Given the description of an element on the screen output the (x, y) to click on. 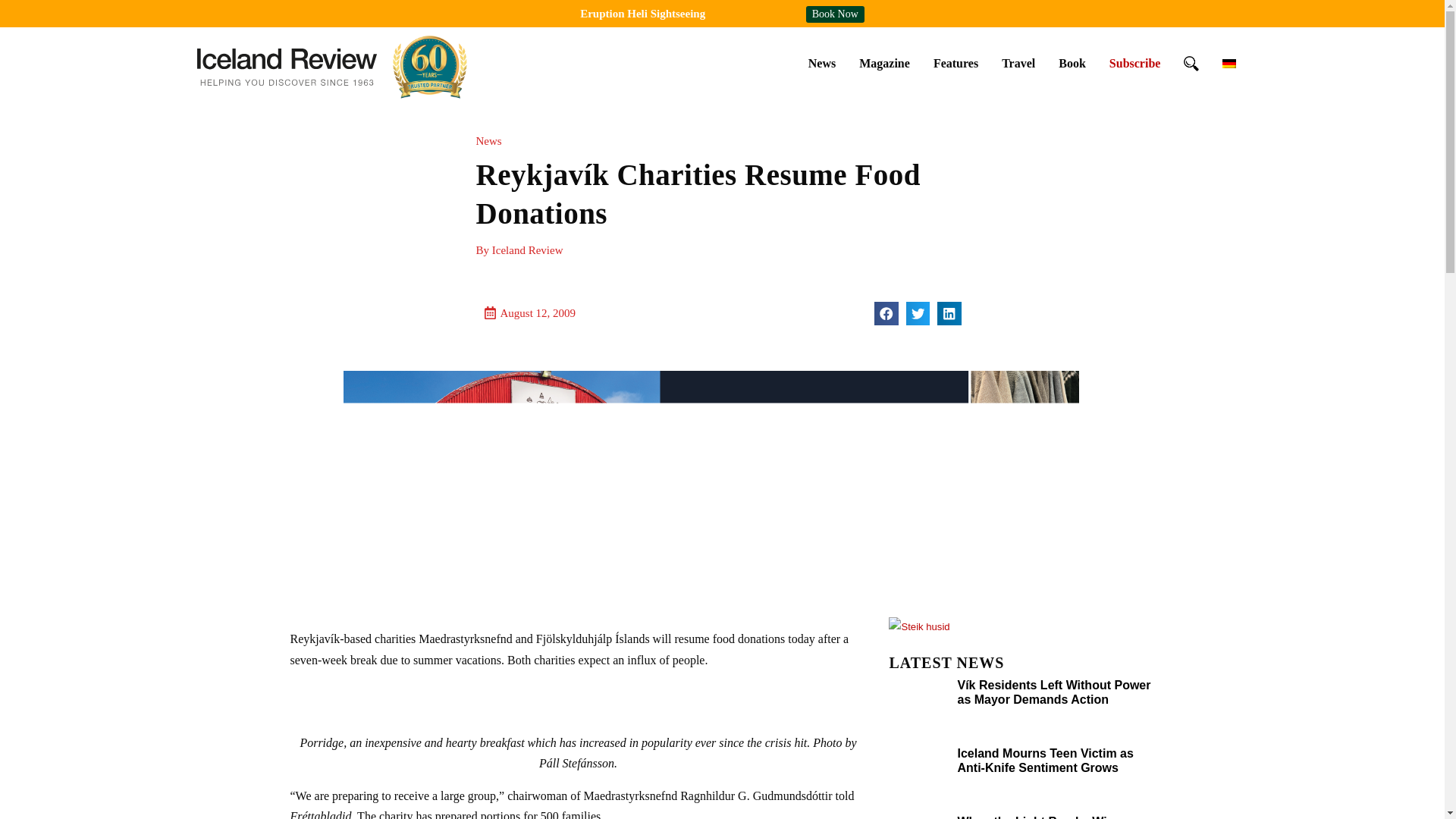
News (821, 63)
When the Light Breaks Wins Grand Pix Nordic Fiction Award (1047, 816)
Subscribe (1134, 63)
Features (955, 63)
Travel (1018, 63)
Iceland Mourns Teen Victim as Anti-Knife Sentiment Grows (1044, 759)
Book Now (835, 13)
Magazine (884, 63)
Book (1071, 63)
Eruption Heli Sightseeing (641, 13)
